Given the description of an element on the screen output the (x, y) to click on. 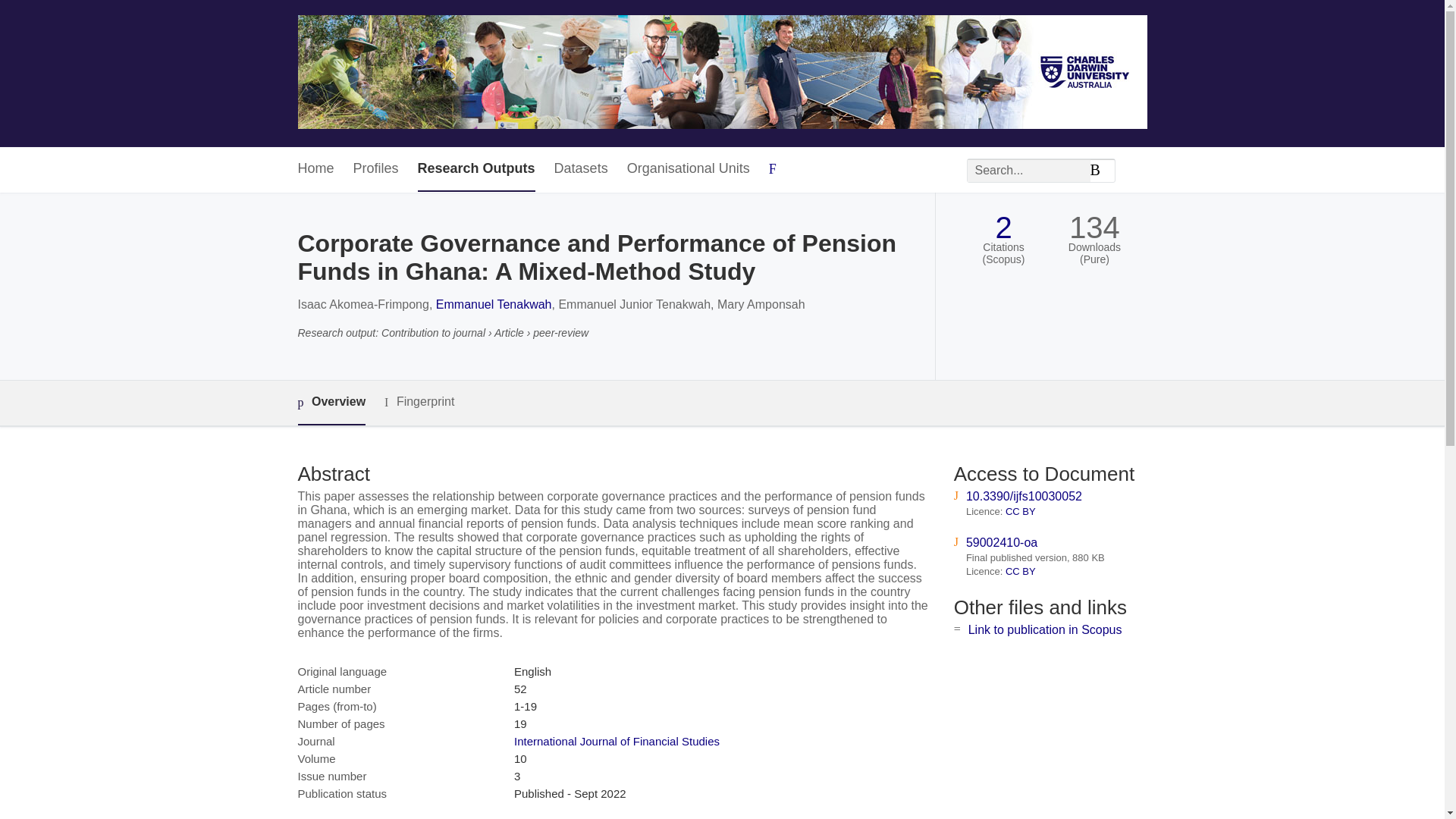
Link to publication in Scopus (1045, 629)
CC BY (1020, 571)
Research Outputs (476, 169)
Charles Darwin University Home (722, 73)
Emmanuel Tenakwah (493, 304)
Profiles (375, 169)
59002410-oa (1001, 542)
Organisational Units (688, 169)
Overview (331, 402)
Datasets (581, 169)
